Given the description of an element on the screen output the (x, y) to click on. 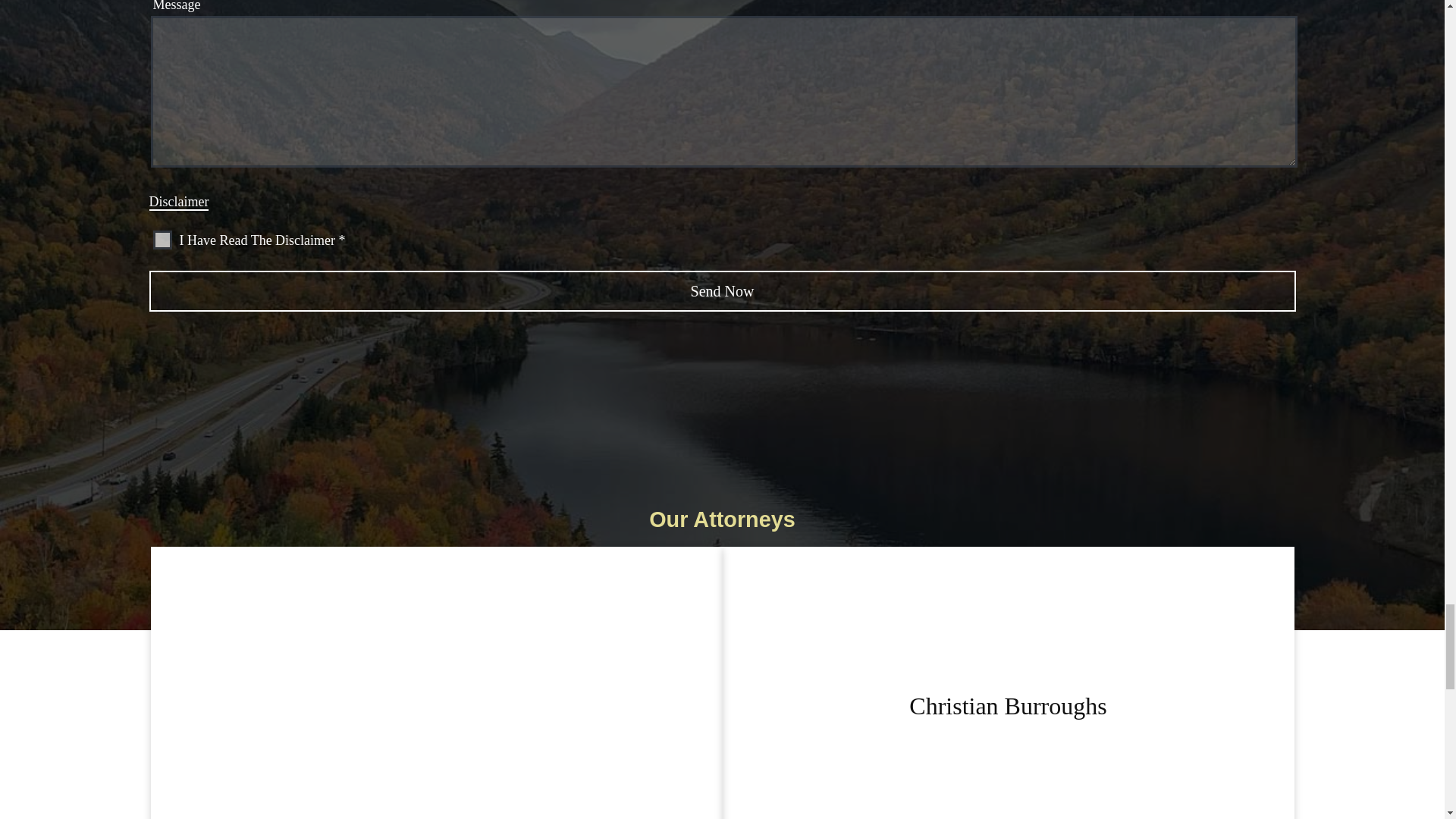
Send Now (721, 291)
Send Now (721, 291)
